Given the description of an element on the screen output the (x, y) to click on. 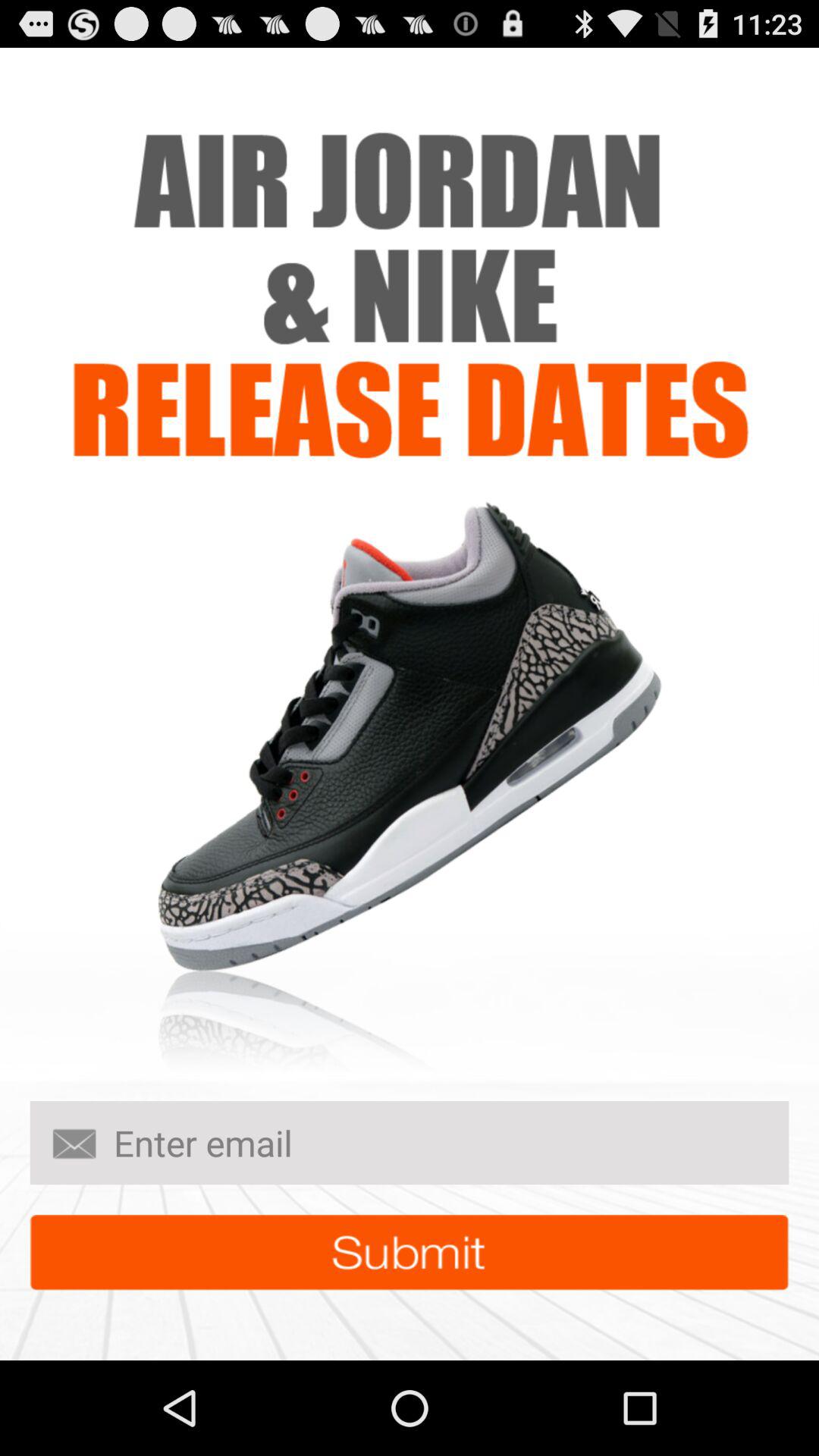
write the email (409, 1142)
